Given the description of an element on the screen output the (x, y) to click on. 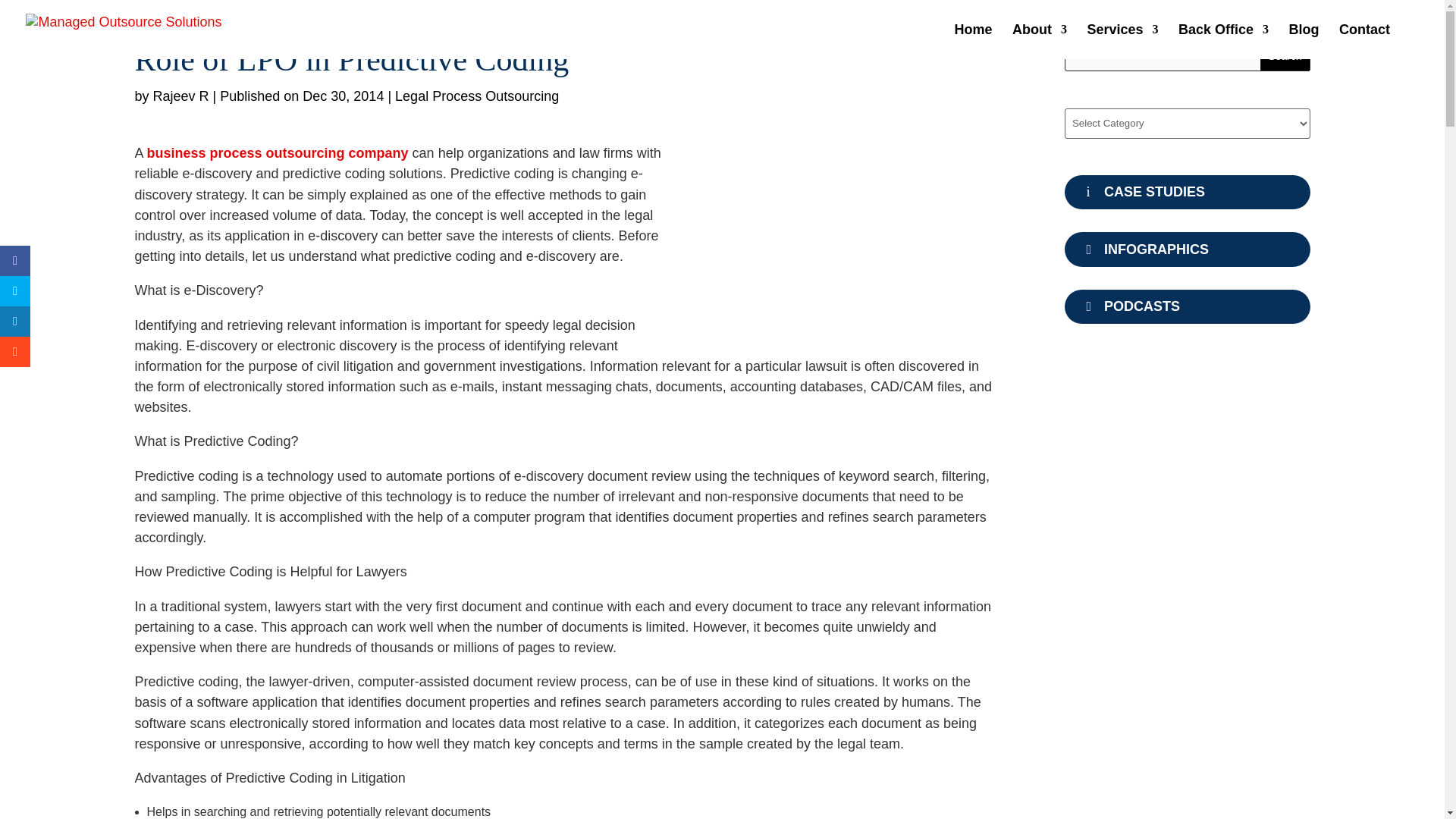
Role of LPO in Predictive Coding (848, 244)
Legal Process Outsourcing (476, 96)
Contact (1364, 41)
business process outsourcing company (278, 152)
Back Office (1222, 41)
Search (1285, 55)
Rajeev R (180, 96)
Services (1122, 41)
INFOGRAPHICS (1187, 248)
CASE STUDIES (1187, 192)
